Given the description of an element on the screen output the (x, y) to click on. 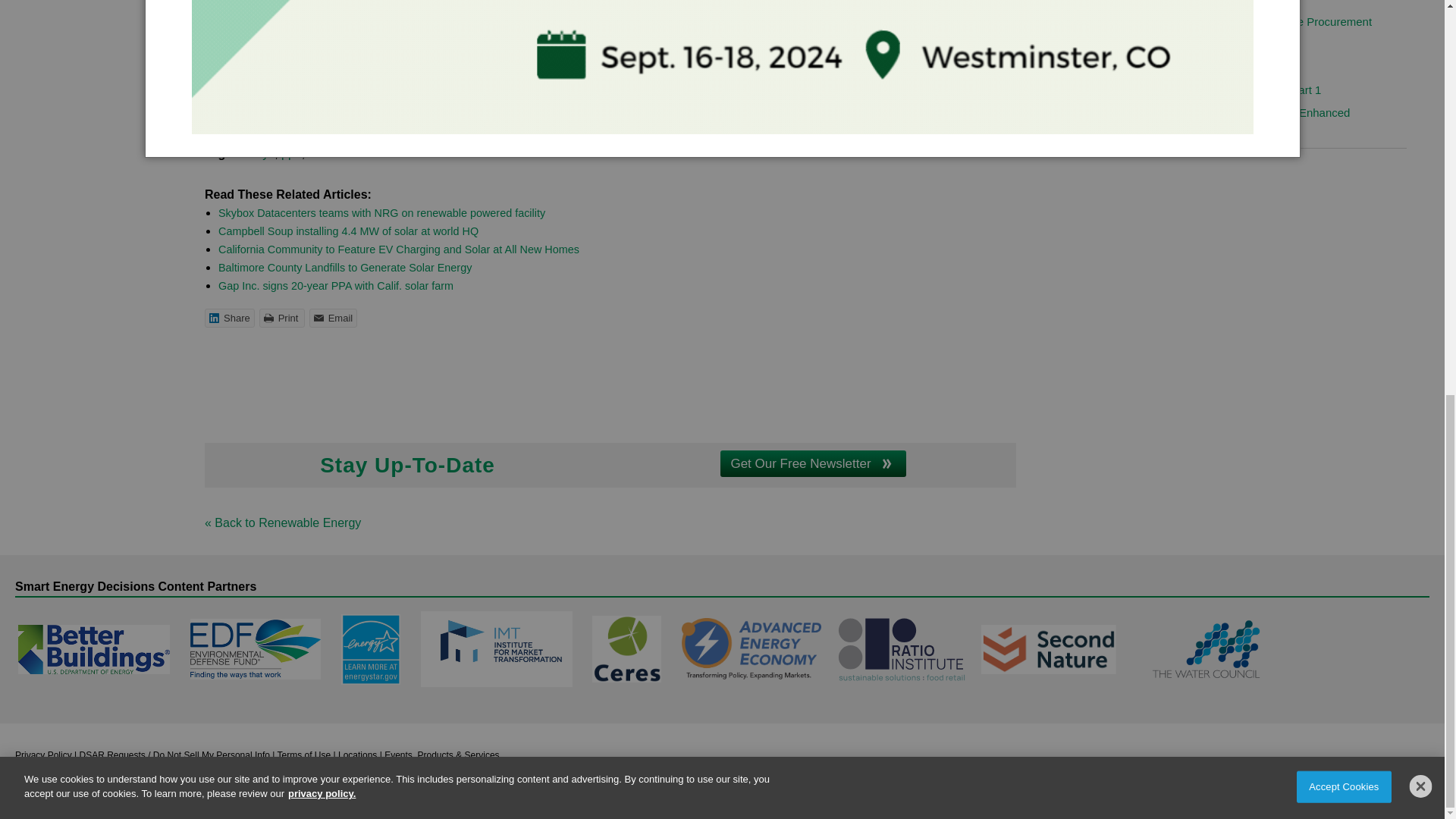
3rd party ad content (610, 375)
